Given the description of an element on the screen output the (x, y) to click on. 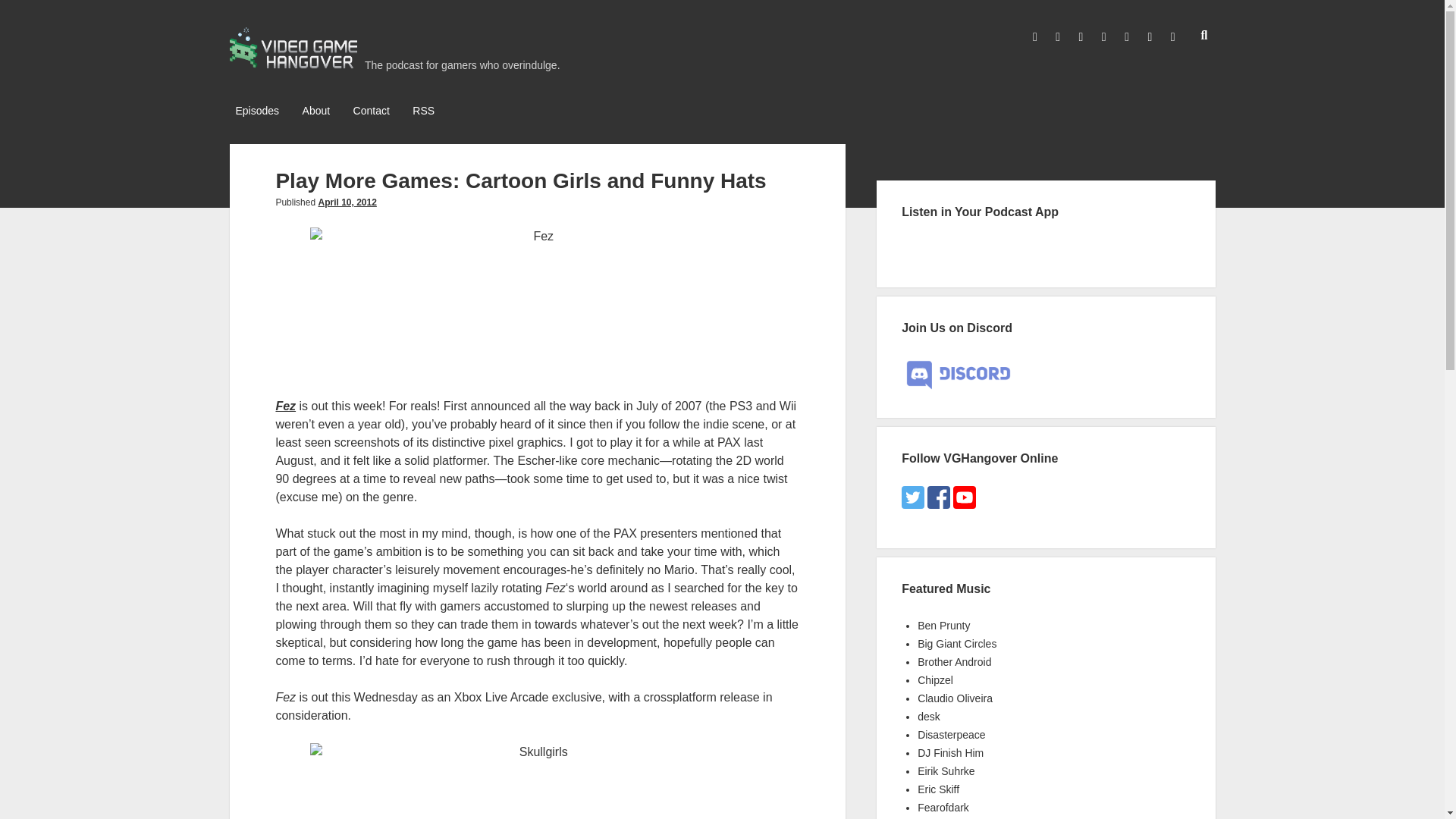
RSS (423, 111)
Chipzel (935, 680)
About (316, 111)
Brother Android (954, 662)
Composer for FTL: Faster than Light (943, 625)
Contact (371, 111)
Fez (285, 405)
Claudio Oliveira (954, 698)
Ben Prunty (943, 625)
Fez (537, 303)
Join us on Discord (957, 374)
Video Game Hangover (292, 63)
Subscribe to VGHangover.com blog posts (423, 111)
April 10, 2012 (346, 202)
Skullgirls (537, 780)
